Given the description of an element on the screen output the (x, y) to click on. 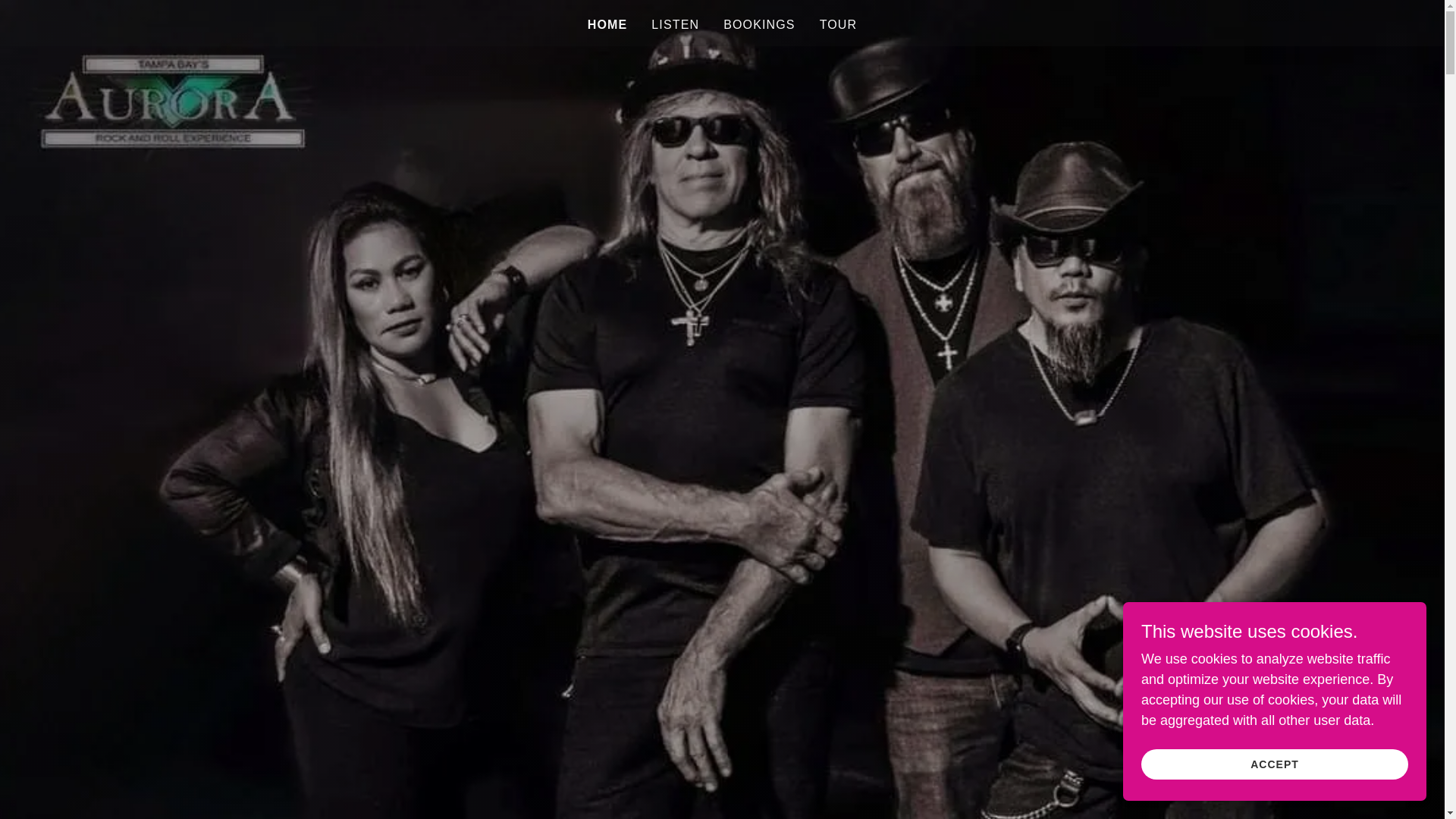
TOUR (838, 24)
HOME (607, 24)
LISTEN (674, 24)
BOOKINGS (759, 24)
ACCEPT (1274, 764)
